Given the description of an element on the screen output the (x, y) to click on. 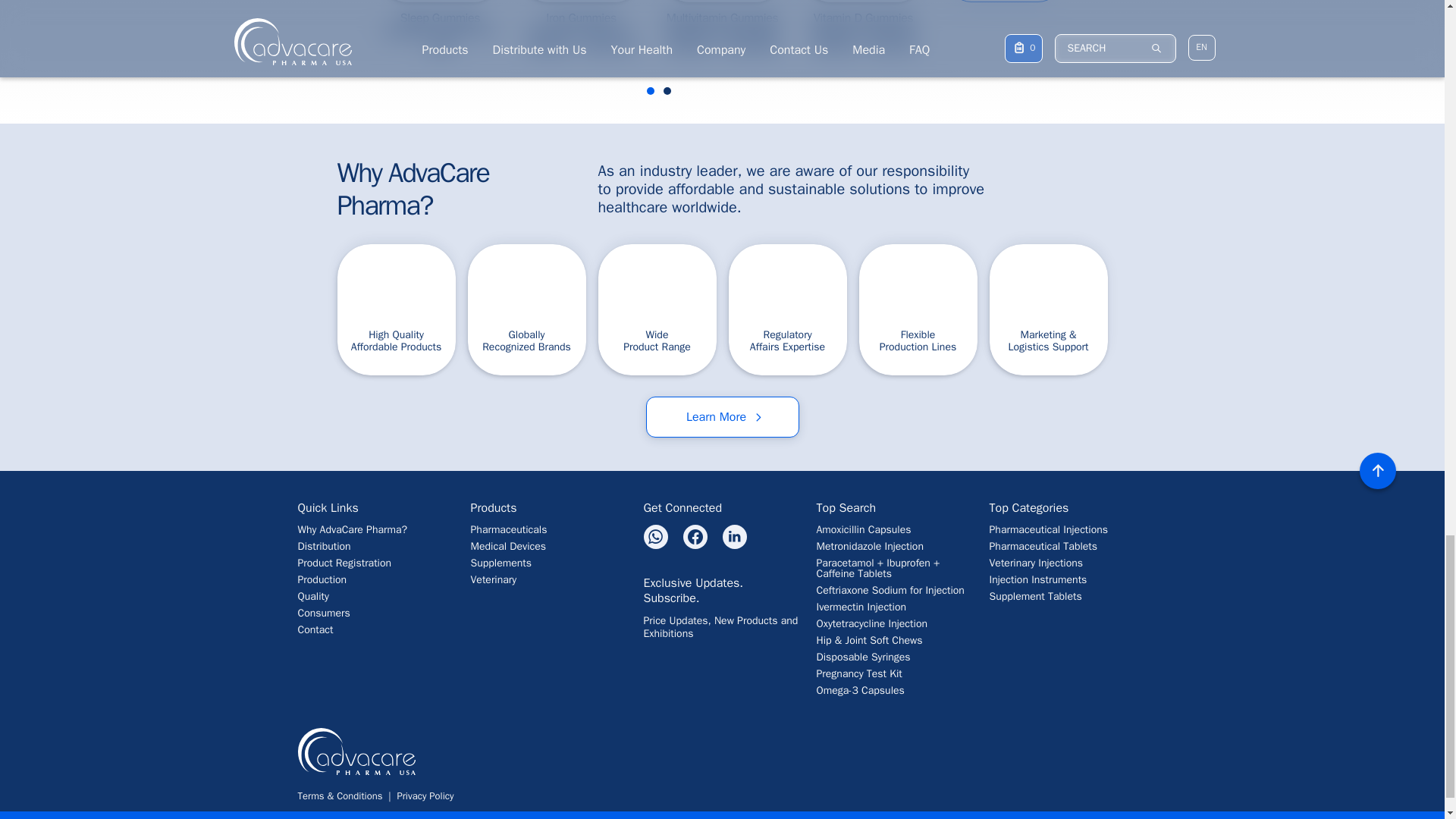
Company (375, 613)
Company (375, 596)
Iron Gummies (580, 34)
Distribute With Us (375, 529)
Medical Devices (548, 546)
Appetite Stimulant Gummies (1144, 34)
Multivitamin Gummies (722, 34)
Distribute With Us (375, 562)
Distribute With Us (375, 546)
Supplements (548, 562)
Omega-3 Gummies (1286, 34)
Probiotic Gummies (1003, 34)
Company (375, 579)
Contact Us (375, 629)
Pharmaceuticals (548, 529)
